Given the description of an element on the screen output the (x, y) to click on. 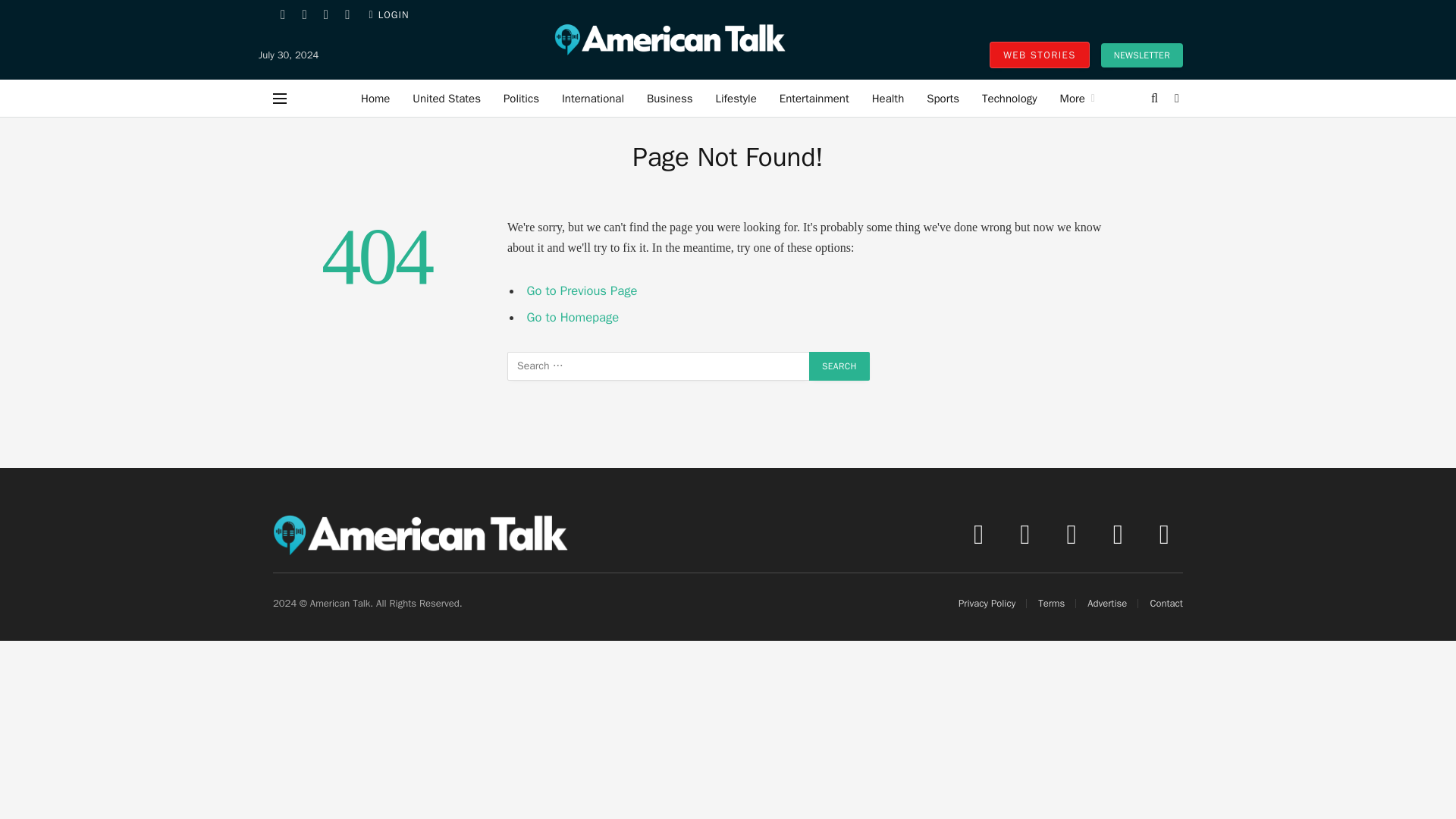
American Talk (669, 54)
Search (839, 366)
LOGIN (389, 15)
United States (446, 98)
Switch to Dark Design - easier on eyes. (1174, 98)
WEB STORIES (1039, 54)
Politics (521, 98)
Home (375, 98)
NEWSLETTER (1141, 54)
Search (839, 366)
